Given the description of an element on the screen output the (x, y) to click on. 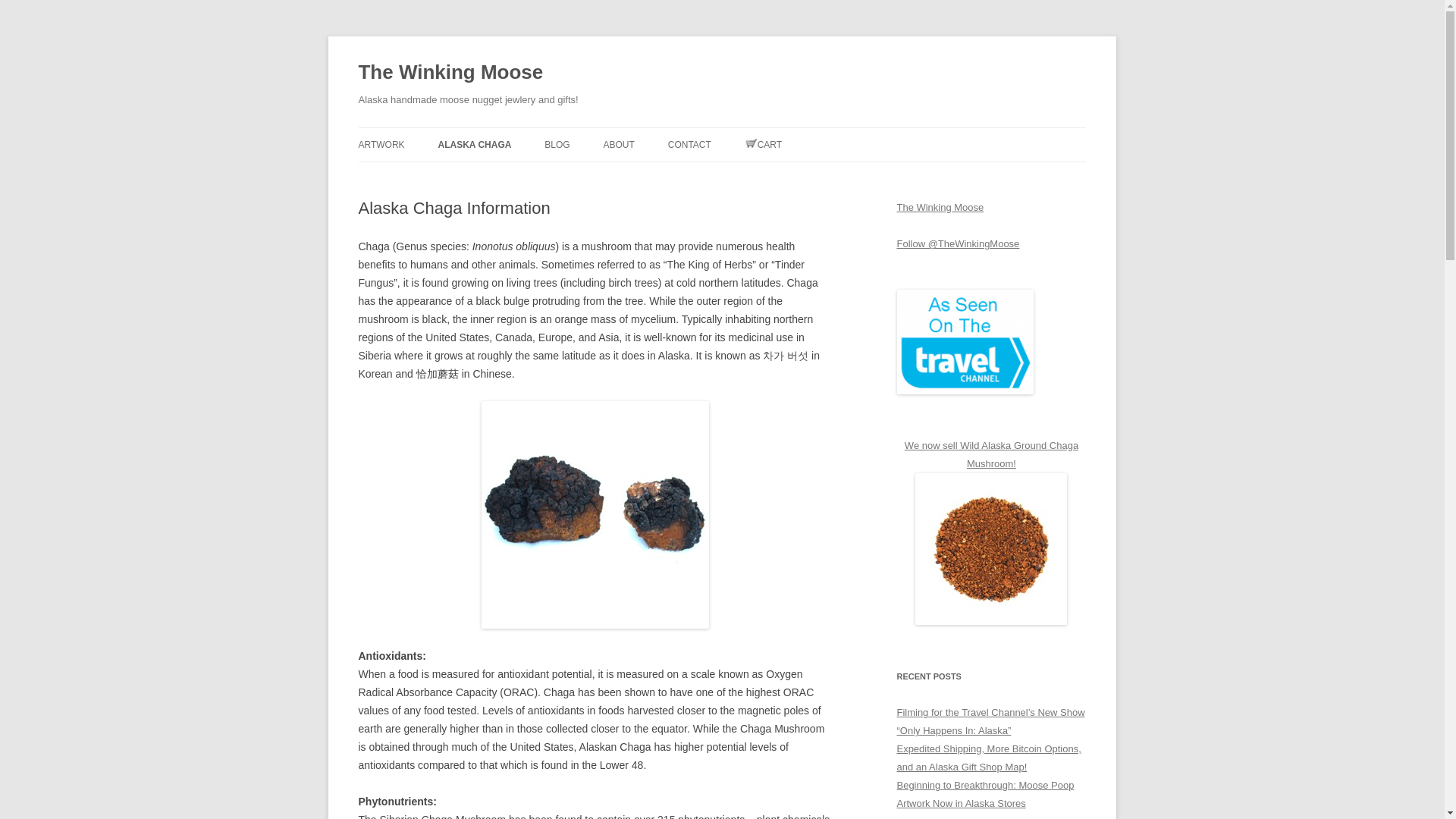
The Winking Moose (450, 72)
CHAGA TEA BAGS (513, 176)
ARTWORK (381, 144)
We now sell Wild Alaska Ground Chaga Mushroom! (991, 454)
CONTACT (689, 144)
CART (762, 144)
ALASKA CHAGA (475, 144)
ABOUT (619, 144)
The Winking Moose (940, 206)
The Winking Moose (450, 72)
